Given the description of an element on the screen output the (x, y) to click on. 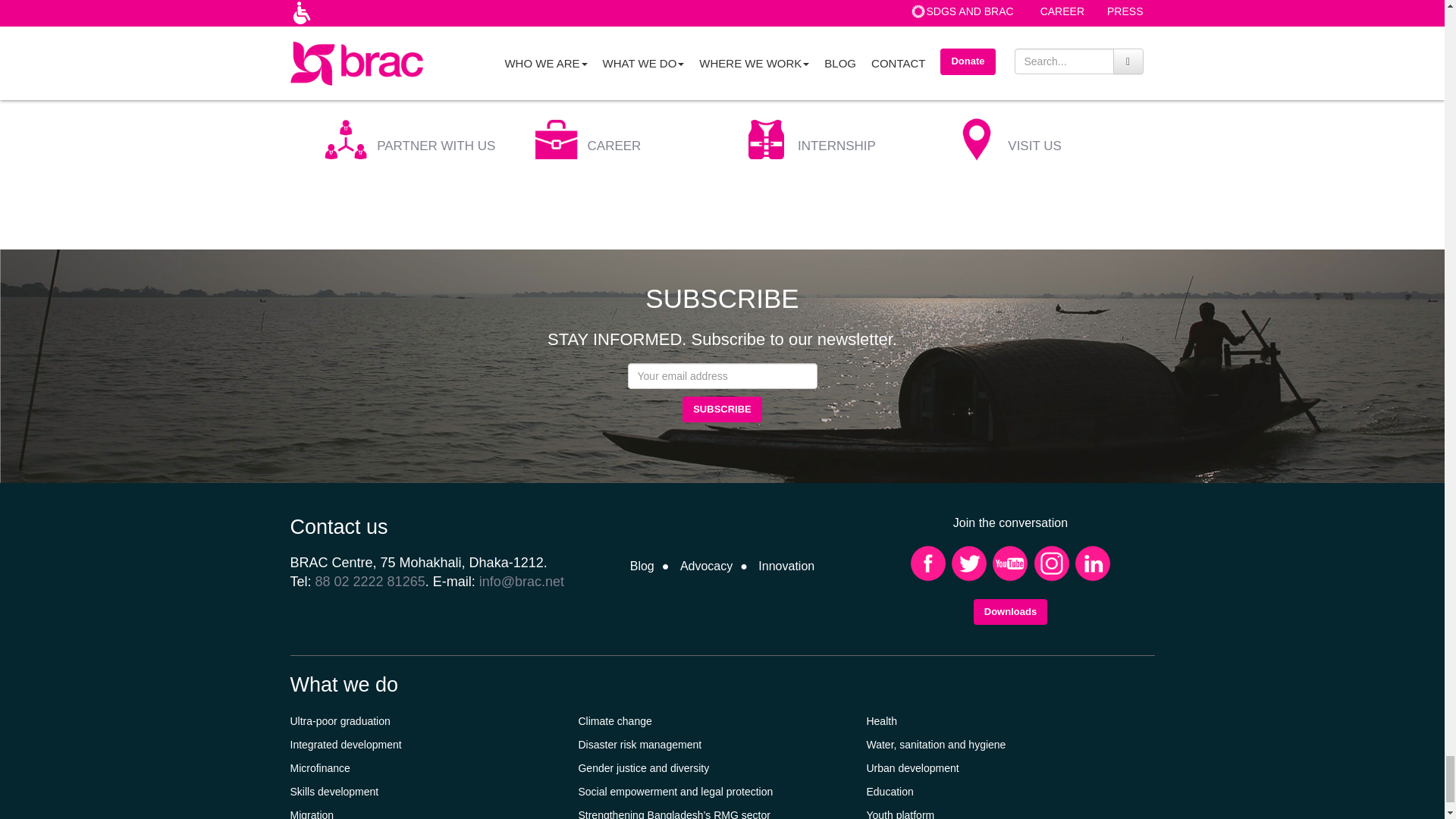
Subscribe (721, 409)
